Given the description of an element on the screen output the (x, y) to click on. 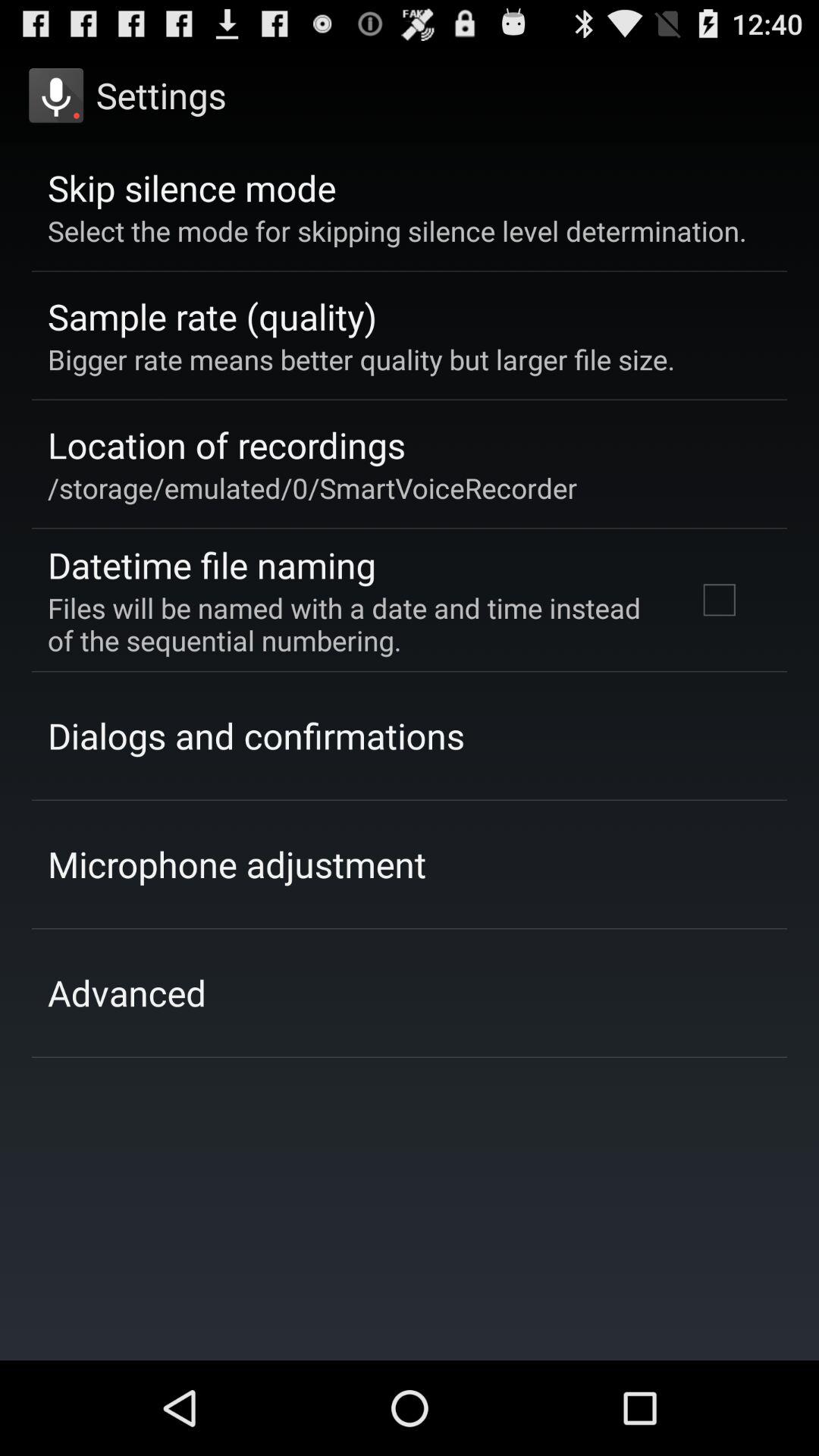
select app above dialogs and confirmations (351, 624)
